Given the description of an element on the screen output the (x, y) to click on. 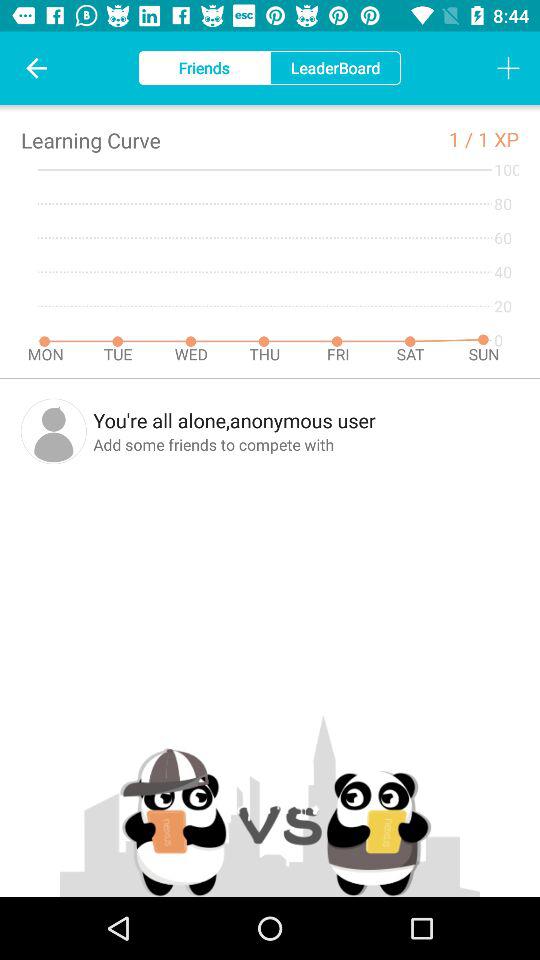
open the item to the left of 1 xp (463, 138)
